Given the description of an element on the screen output the (x, y) to click on. 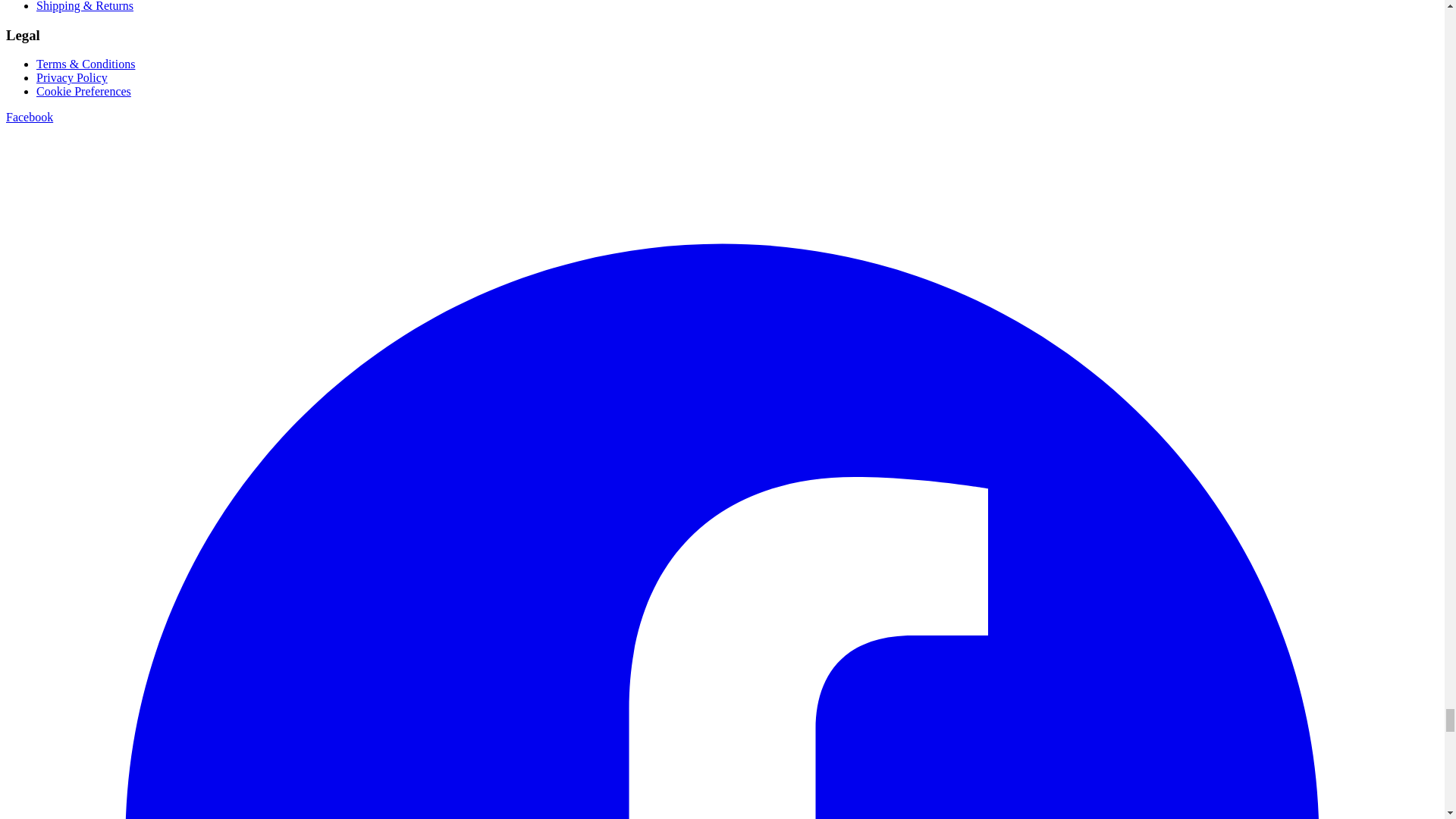
Privacy Policy (71, 77)
Cookie Preferences (83, 91)
